Given the description of an element on the screen output the (x, y) to click on. 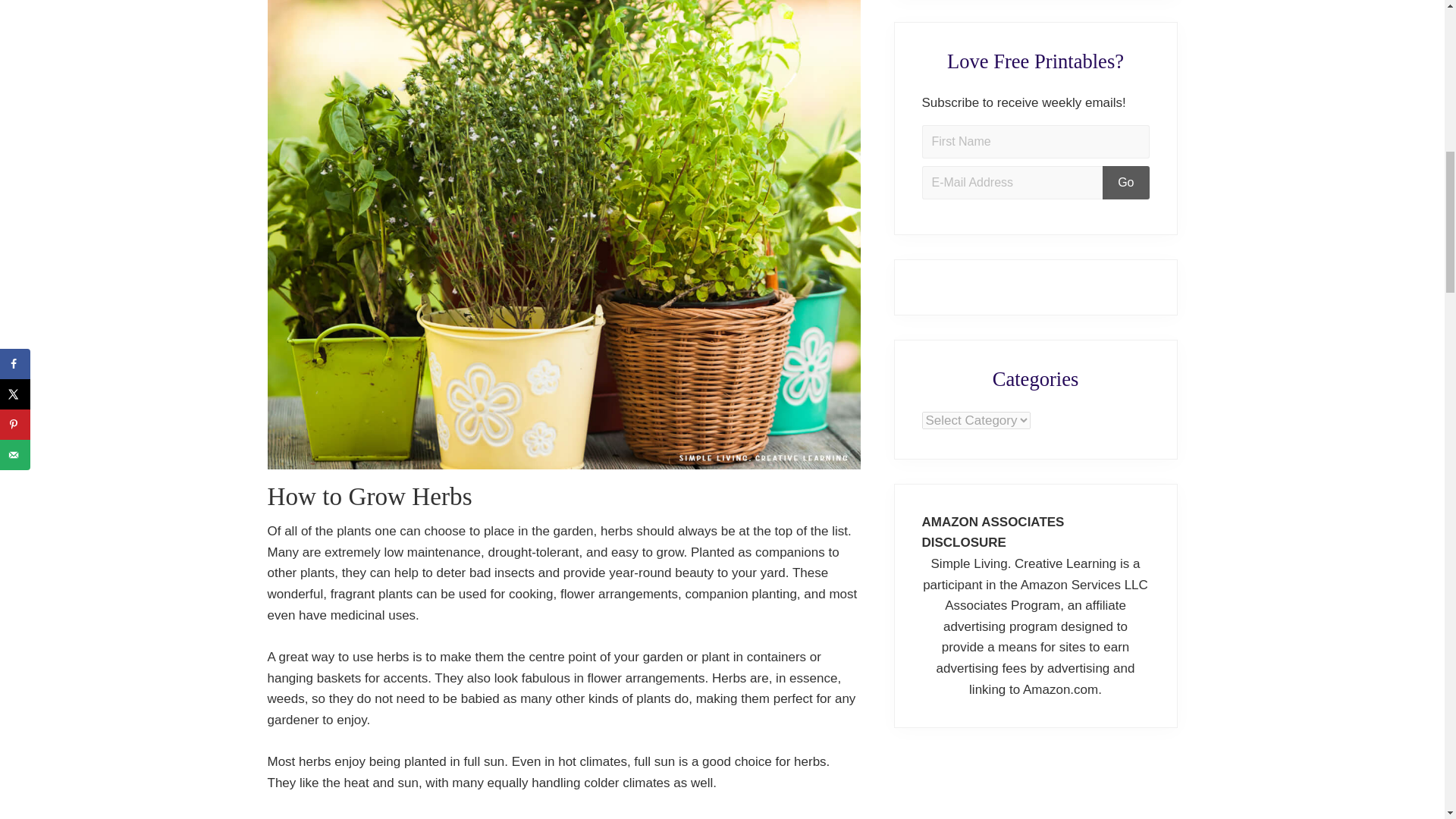
Go (1125, 182)
